Given the description of an element on the screen output the (x, y) to click on. 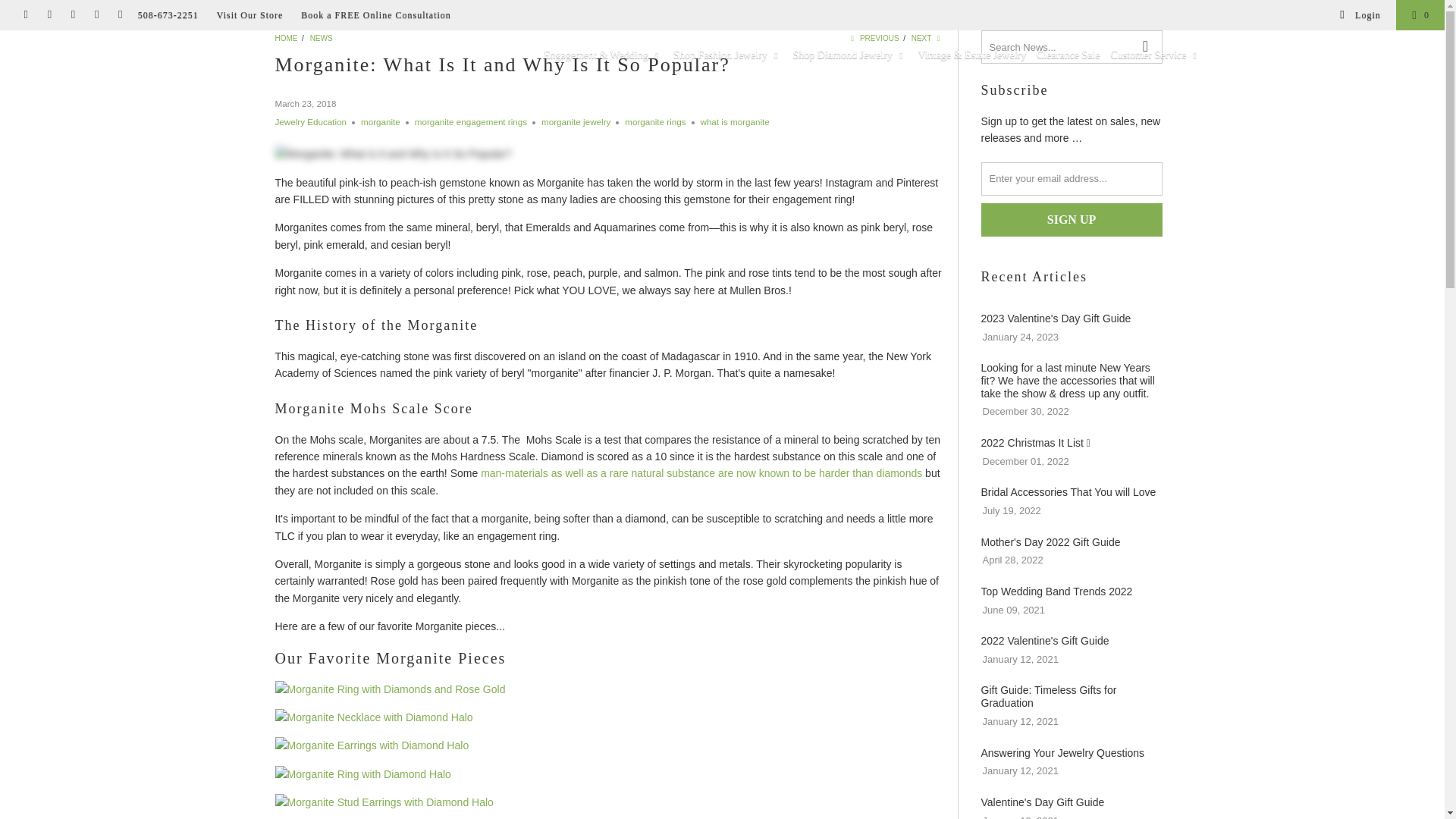
News tagged morganite jewelry (575, 121)
Mullen Brothers on YouTube (48, 14)
Sign Up (1071, 219)
My Account  (1359, 15)
News (321, 38)
Mullen Brothers on Facebook (25, 14)
Mullen Brothers on Instagram (94, 14)
News tagged morganite engagement rings (470, 121)
Email Mullen Brothers (119, 14)
News tagged morganite (380, 121)
